Given the description of an element on the screen output the (x, y) to click on. 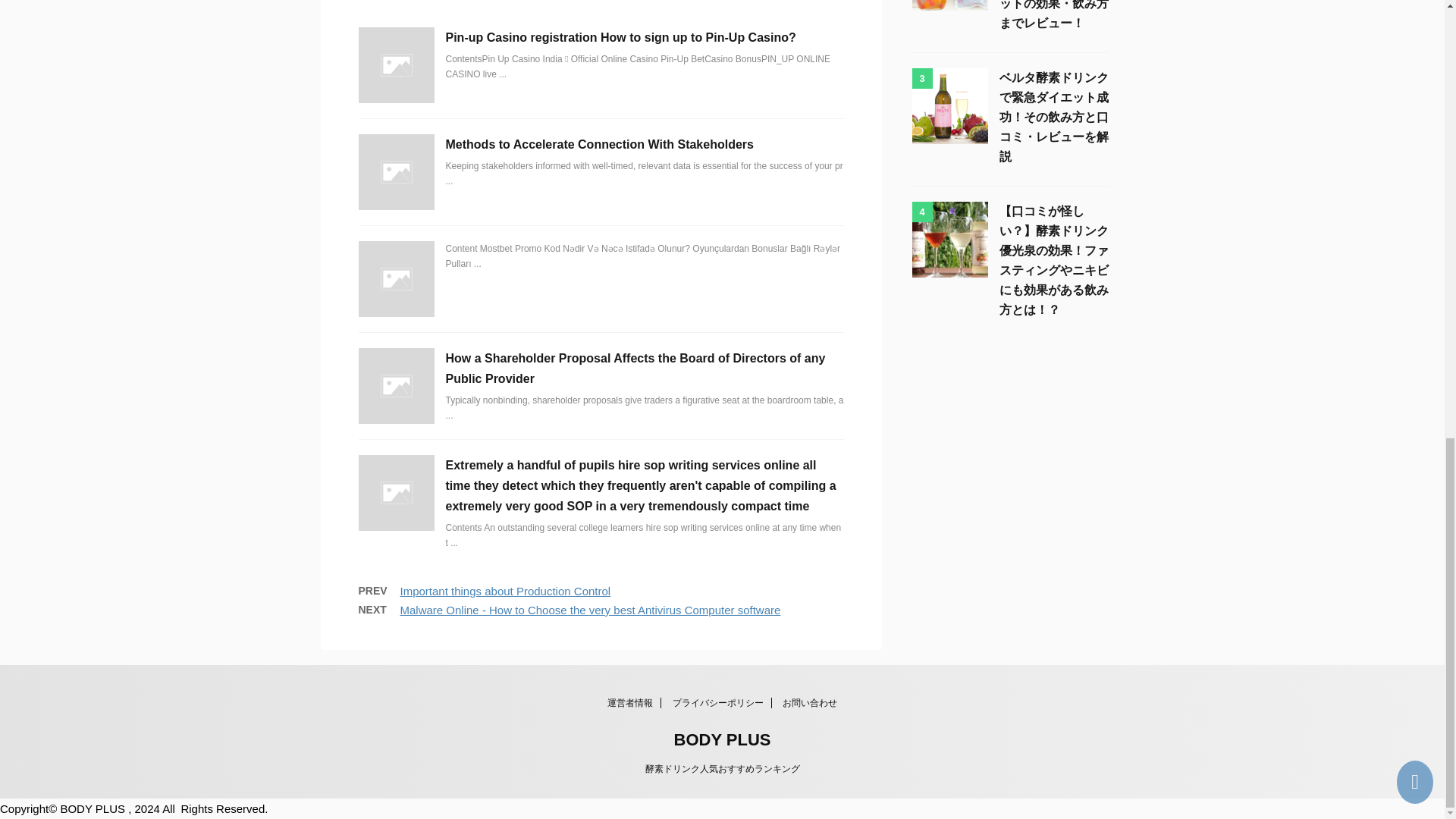
no image (395, 65)
Methods to Accelerate Connection With Stakeholders (599, 144)
no image (395, 171)
no image (395, 386)
Important things about Production Control (505, 590)
no image (395, 278)
no image (395, 492)
Pin-up Casino registration How to sign up to Pin-Up Casino? (620, 37)
